Given the description of an element on the screen output the (x, y) to click on. 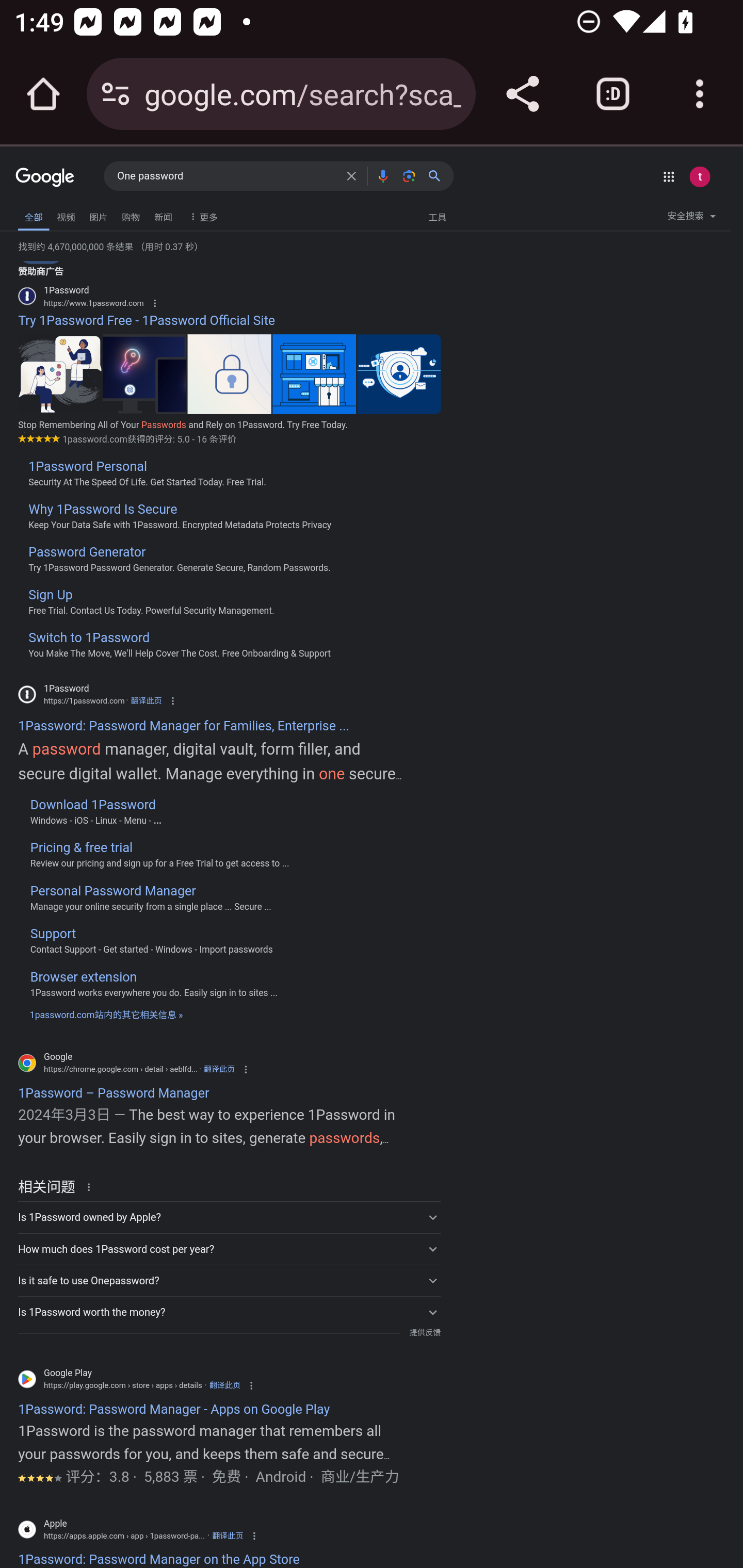
Open the home page (43, 93)
Connection is secure (115, 93)
Share (522, 93)
Switch or close tabs (612, 93)
Customize and control Google Chrome (699, 93)
清除 (351, 175)
按语音搜索 (382, 175)
按图搜索 (408, 175)
搜索 (438, 175)
Google 应用 (668, 176)
Google 账号： test appium (testappium002@gmail.com) (699, 176)
Google (45, 178)
One password (225, 176)
无障碍功能反馈 (41, 212)
视频 (65, 215)
图片 (98, 215)
购物 (131, 215)
新闻 (163, 215)
更多 (201, 215)
安全搜索 (691, 218)
工具 (437, 215)
为什么会显示该广告？ (154, 304)
图片来自 1password.com (59, 373)
图片来自 1password.com (144, 373)
图片来自 1password.com (229, 373)
图片来自 1password.com (313, 373)
图片来自 1password.com (399, 373)
1Password Personal (87, 466)
Why 1Password Is Secure (102, 509)
Password Generator (87, 551)
Sign Up (50, 594)
Switch to 1Password (89, 637)
翻译此页 (146, 700)
Download 1Password (92, 804)
Pricing & free trial (80, 848)
Personal Password Manager (112, 890)
Support (52, 933)
Browser extension (83, 976)
1password.com站内的其它相关信息 » (106, 1014)
翻译此页 (218, 1069)
关于这条结果的详细信息 (92, 1186)
Is 1Password owned by Apple? (228, 1217)
How much does 1Password cost per year? (228, 1249)
Is it safe to use Onepassword? (228, 1280)
Is 1Password worth the money? (228, 1312)
提供反馈 (424, 1332)
翻译此页 (224, 1385)
翻译此页 (227, 1535)
